Given the description of an element on the screen output the (x, y) to click on. 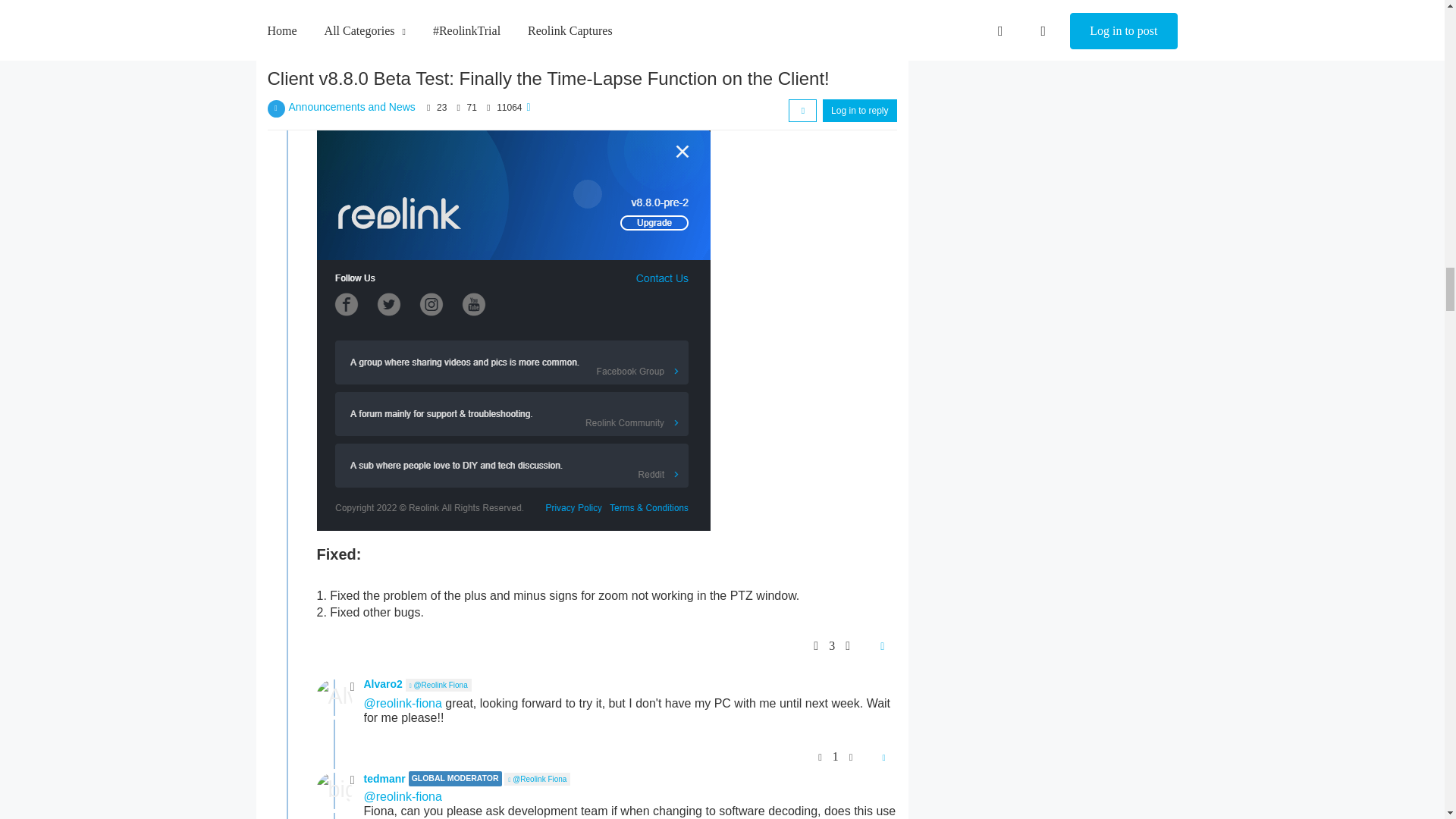
Alvaro2 (333, 697)
